Given the description of an element on the screen output the (x, y) to click on. 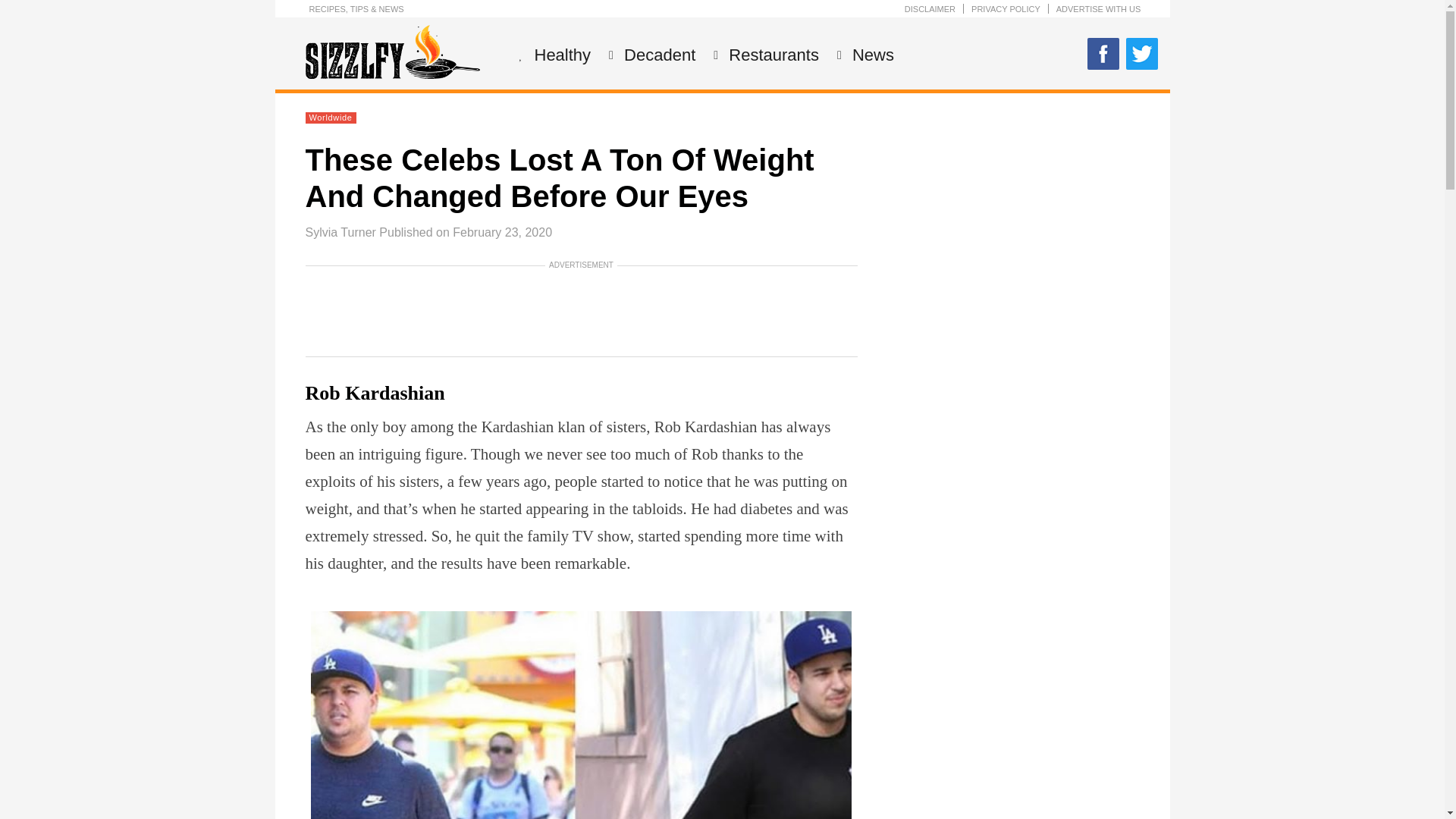
News (870, 55)
ADVERTISE WITH US (1099, 8)
Worldwide (330, 117)
Restaurants (771, 55)
Decadent (657, 55)
DISCLAIMER (929, 8)
Healthy (561, 55)
PRIVACY POLICY (1006, 8)
Sylvia Turner (339, 232)
Sizzlfy (391, 74)
